Given the description of an element on the screen output the (x, y) to click on. 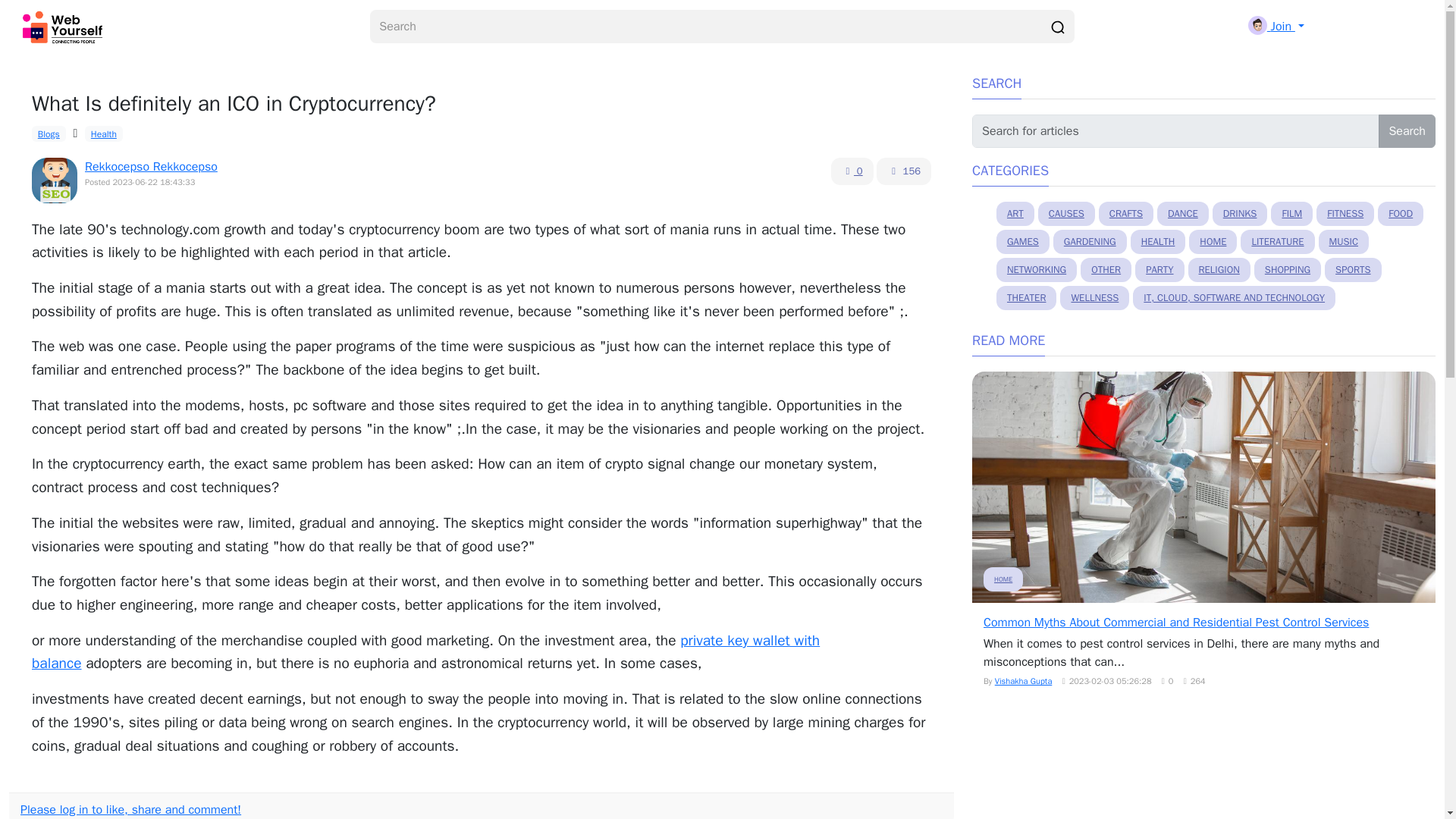
FITNESS (1345, 213)
Health (103, 133)
LITERATURE (1277, 241)
HEALTH (1158, 241)
FOOD (1400, 213)
GARDENING (1089, 241)
Search (1406, 131)
DANCE (1182, 213)
0 (852, 171)
ART (1014, 213)
